Given the description of an element on the screen output the (x, y) to click on. 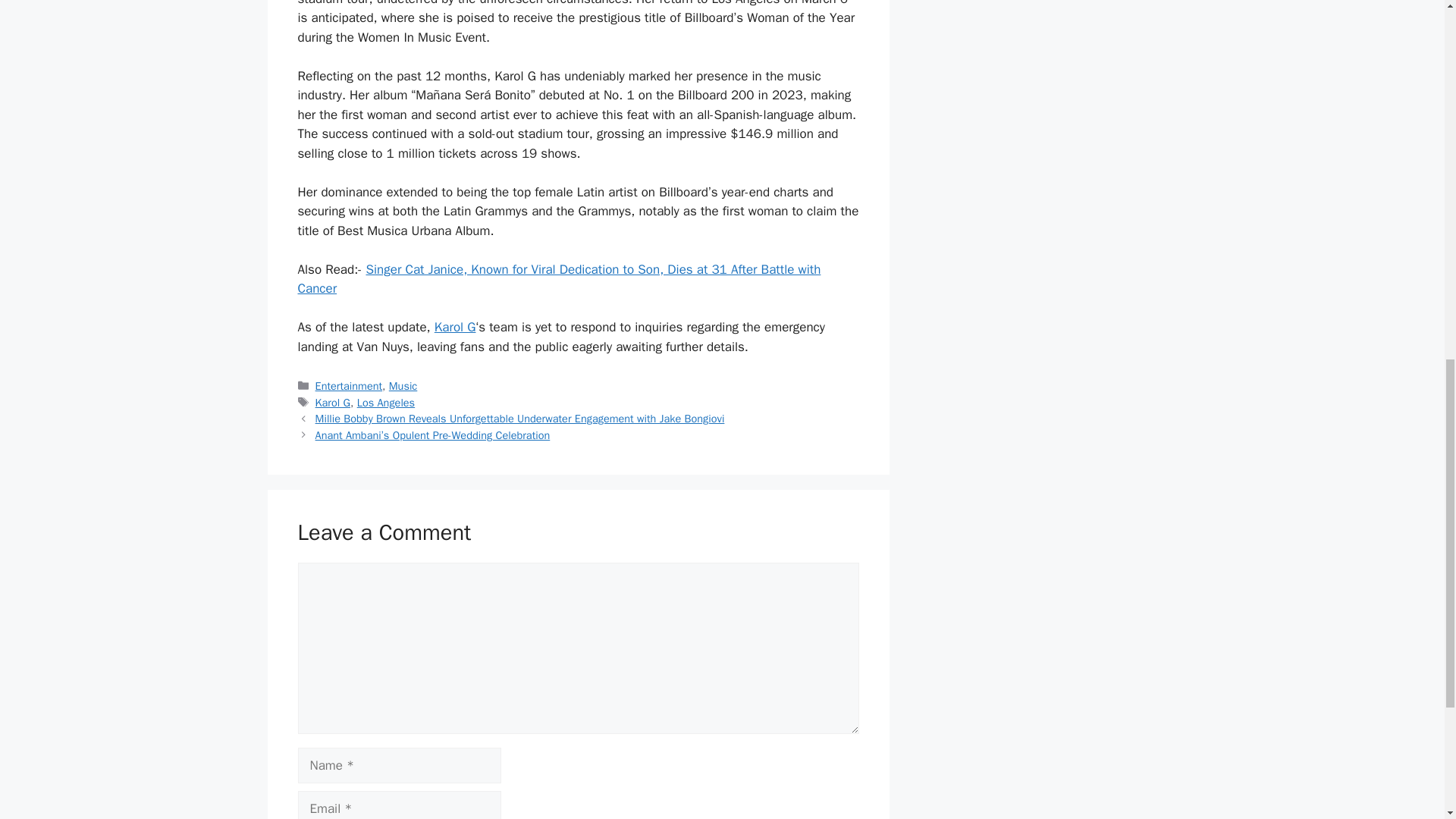
Los Angeles (385, 402)
Karol G (332, 402)
Entertainment (348, 386)
Music (402, 386)
Karol G (454, 326)
